Given the description of an element on the screen output the (x, y) to click on. 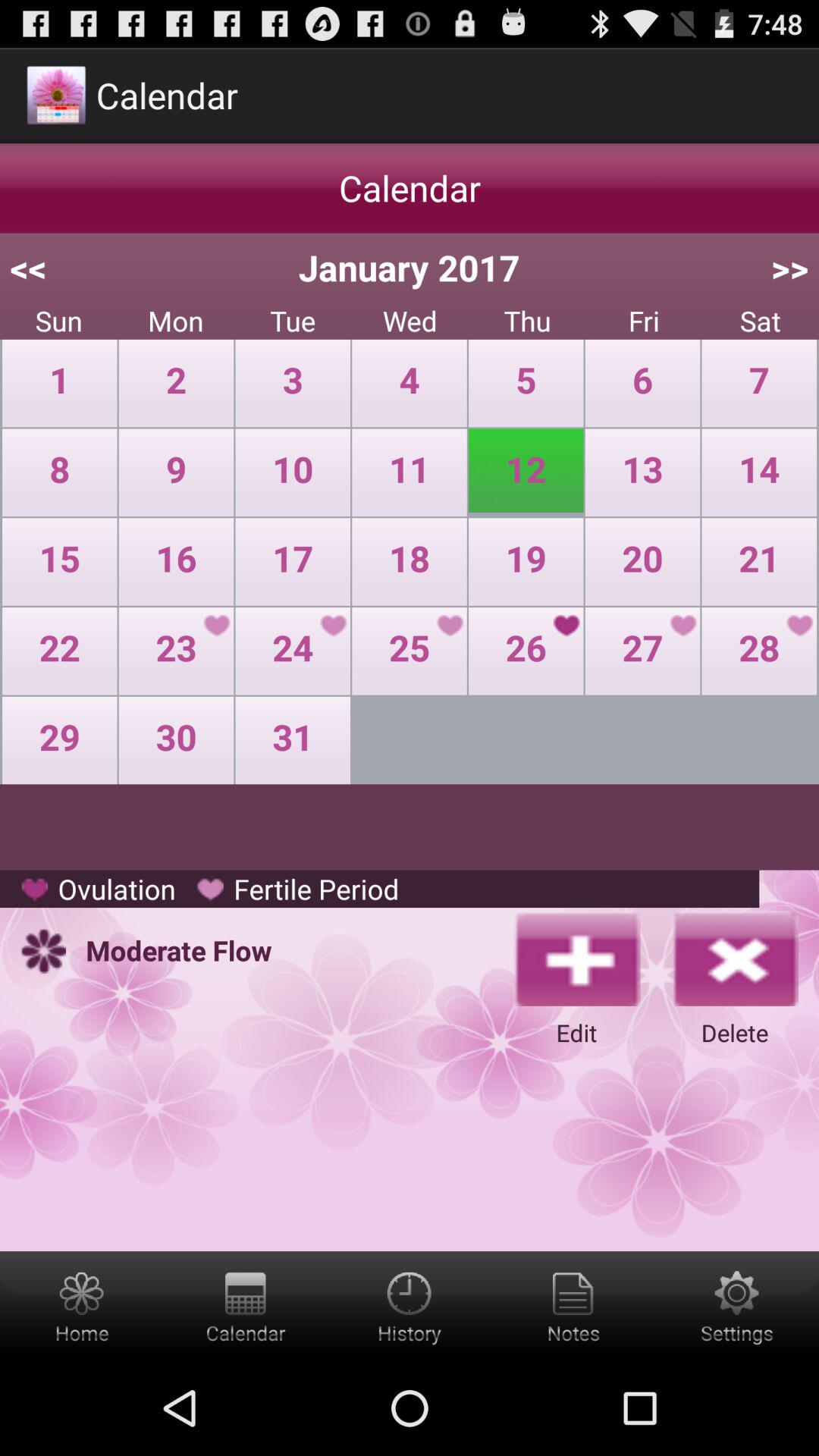
delete (734, 958)
